Given the description of an element on the screen output the (x, y) to click on. 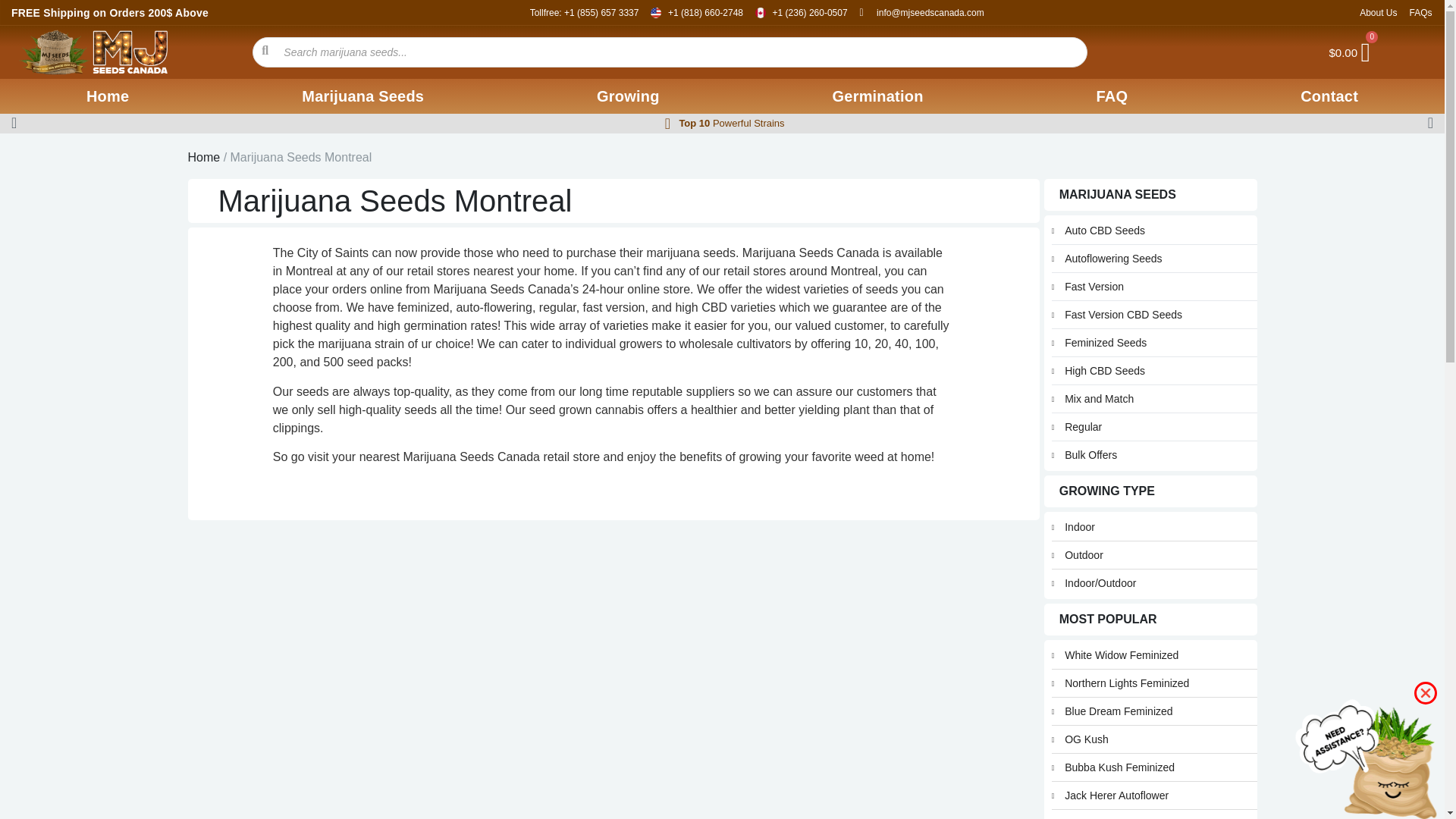
About Us (1377, 12)
Marijuana Seeds (363, 95)
Home (107, 95)
Top 10 Powerful Strains (731, 122)
FAQ (1112, 95)
FAQs (1420, 12)
Germination (877, 95)
Growing (628, 95)
